Given the description of an element on the screen output the (x, y) to click on. 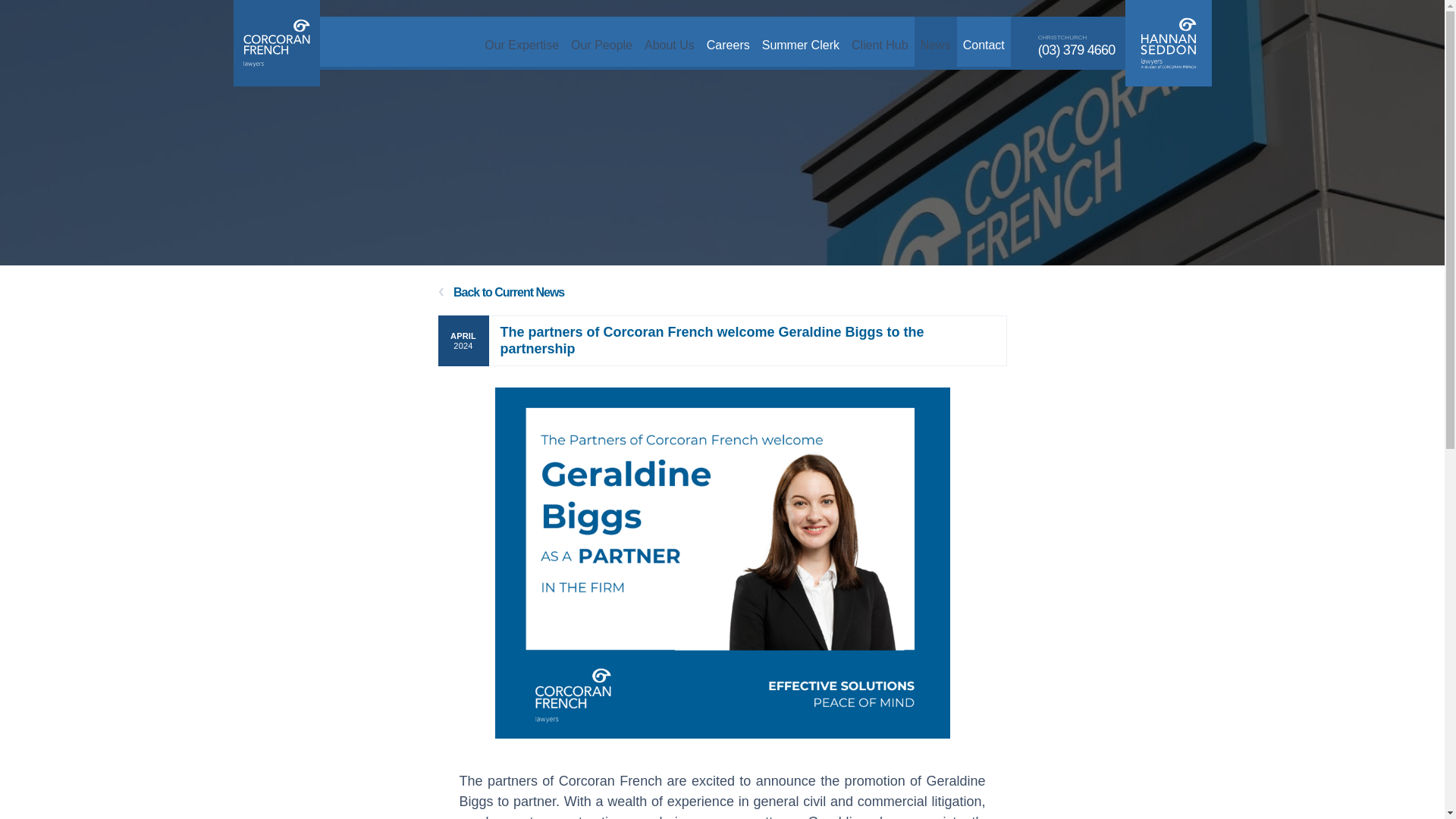
Summer Clerk (800, 41)
Contact (983, 41)
Careers (727, 41)
Our Expertise (521, 41)
About Us (669, 41)
Client Hub (879, 41)
Our People (601, 41)
